Given the description of an element on the screen output the (x, y) to click on. 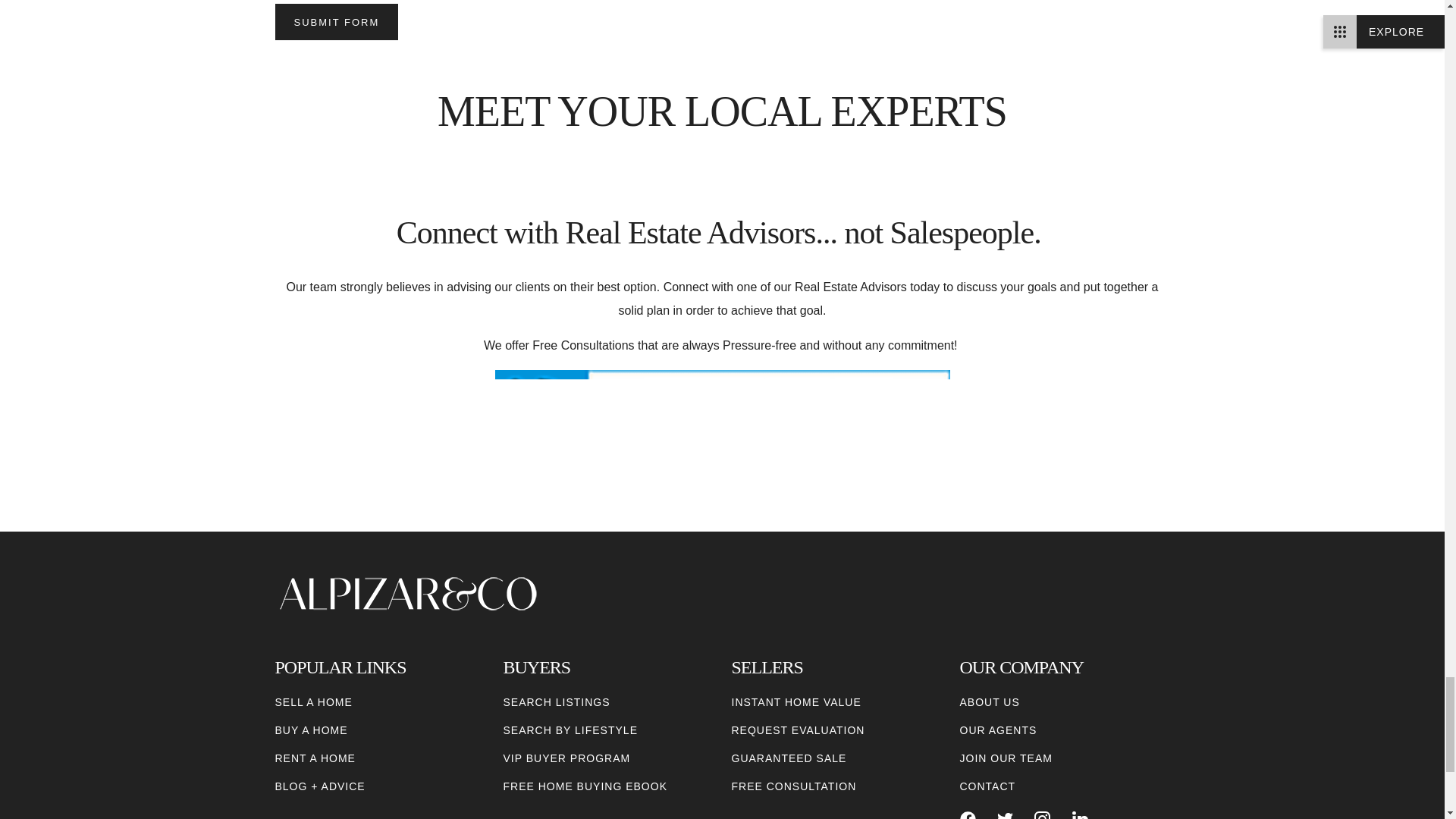
TWITTER (1005, 815)
LINKEDIN (1079, 815)
FACEBOOK (967, 815)
